Given the description of an element on the screen output the (x, y) to click on. 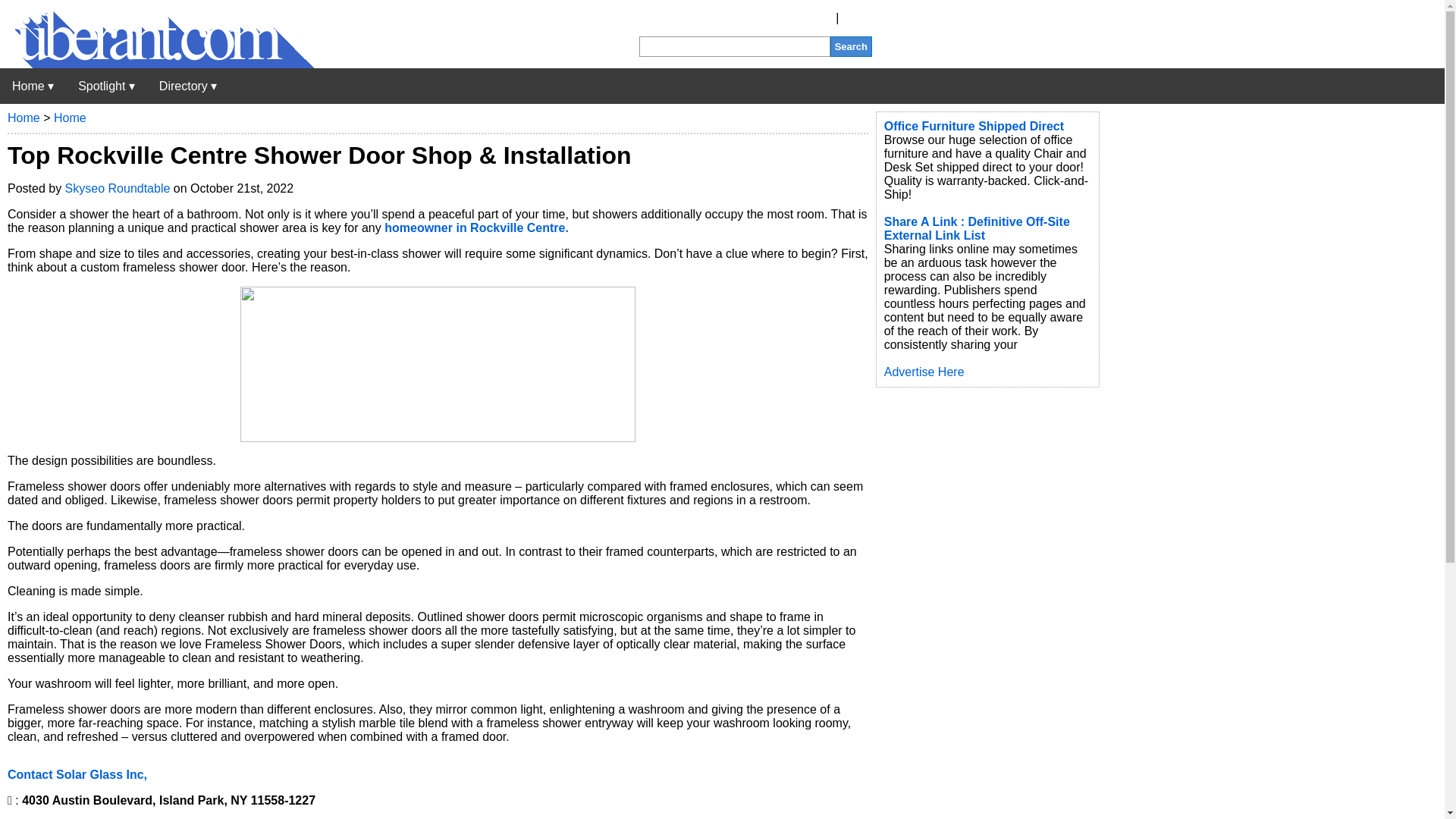
Search (850, 46)
Uberant (157, 63)
Search (850, 46)
Login (857, 17)
Register (809, 17)
Uberant (32, 85)
